Given the description of an element on the screen output the (x, y) to click on. 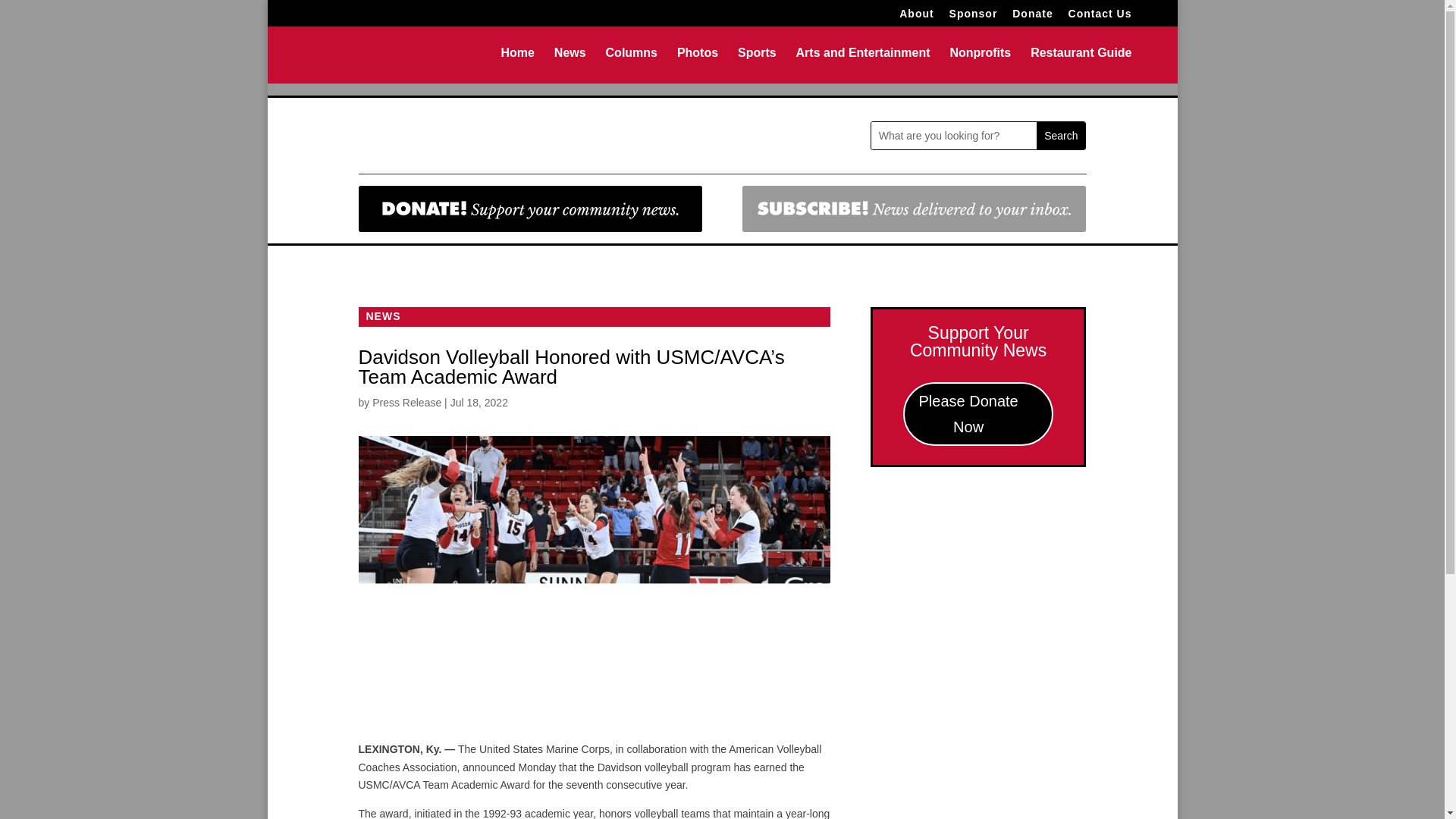
Photos (697, 65)
SubscribeButton-02 (914, 208)
Posts by Press Release (406, 402)
Search (1060, 135)
Donate (1031, 16)
Restaurant Guide (1080, 65)
Sports (757, 65)
Contact Us (1100, 16)
About (916, 16)
Sponsor (973, 16)
